Given the description of an element on the screen output the (x, y) to click on. 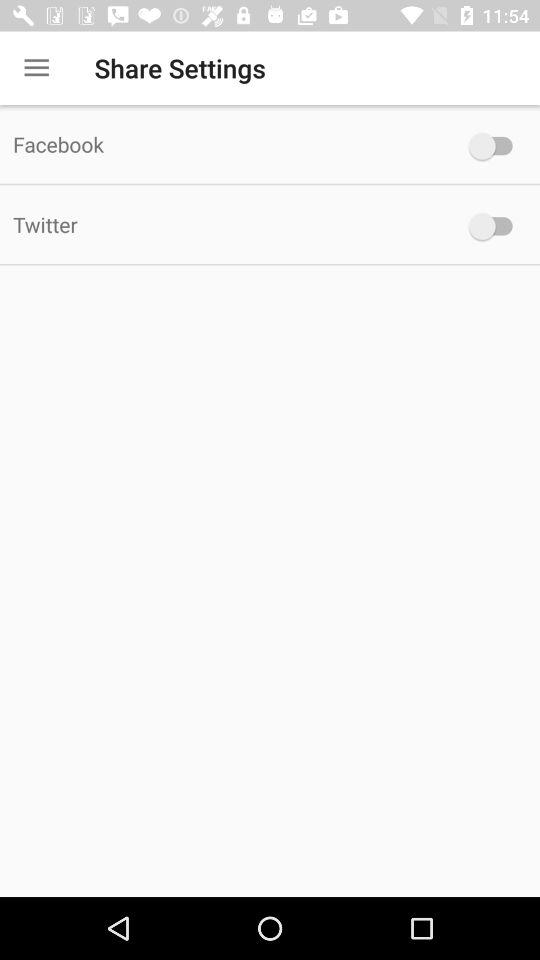
open the facebook item (225, 144)
